Given the description of an element on the screen output the (x, y) to click on. 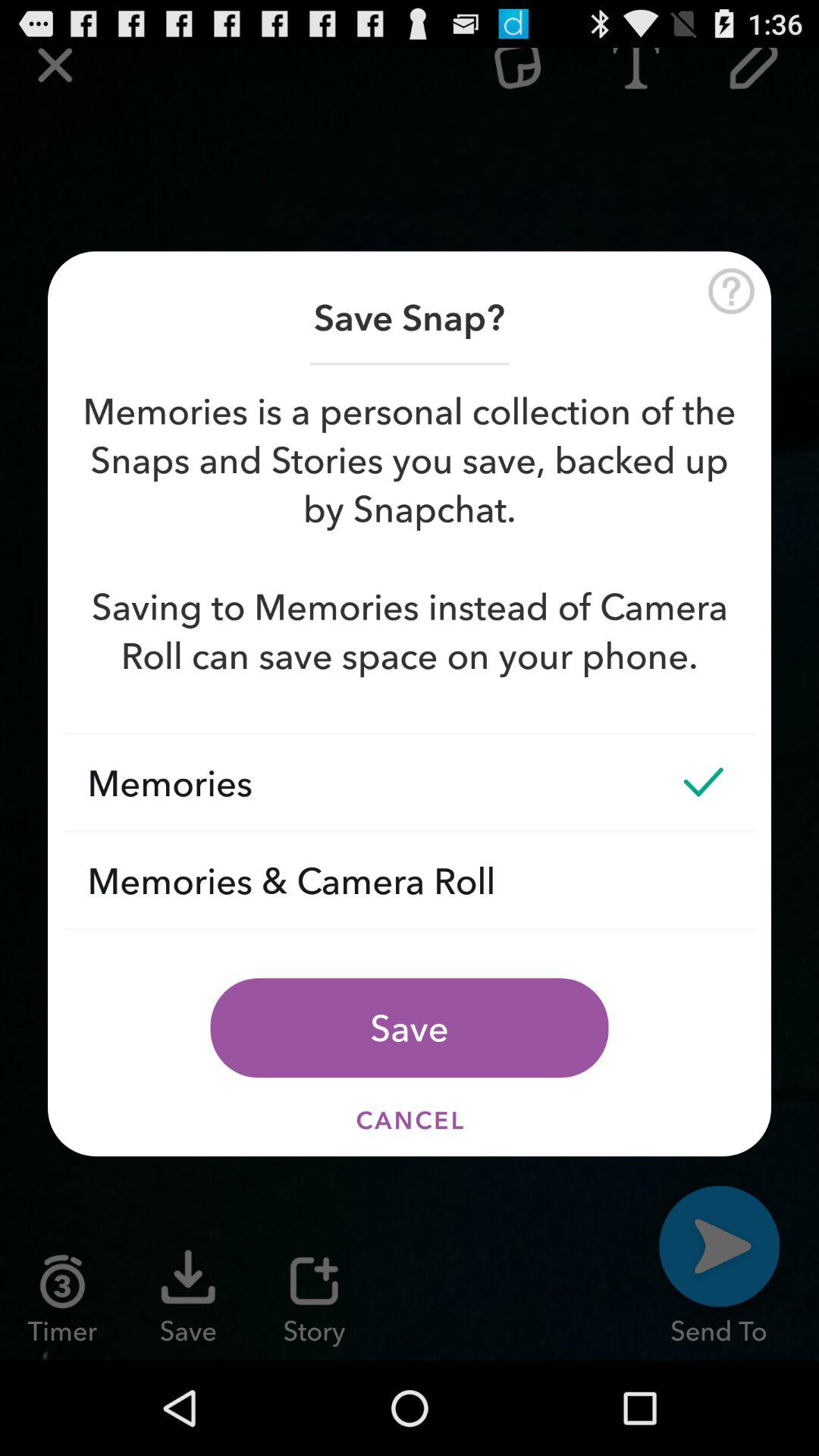
open the cancel item (409, 1119)
